Given the description of an element on the screen output the (x, y) to click on. 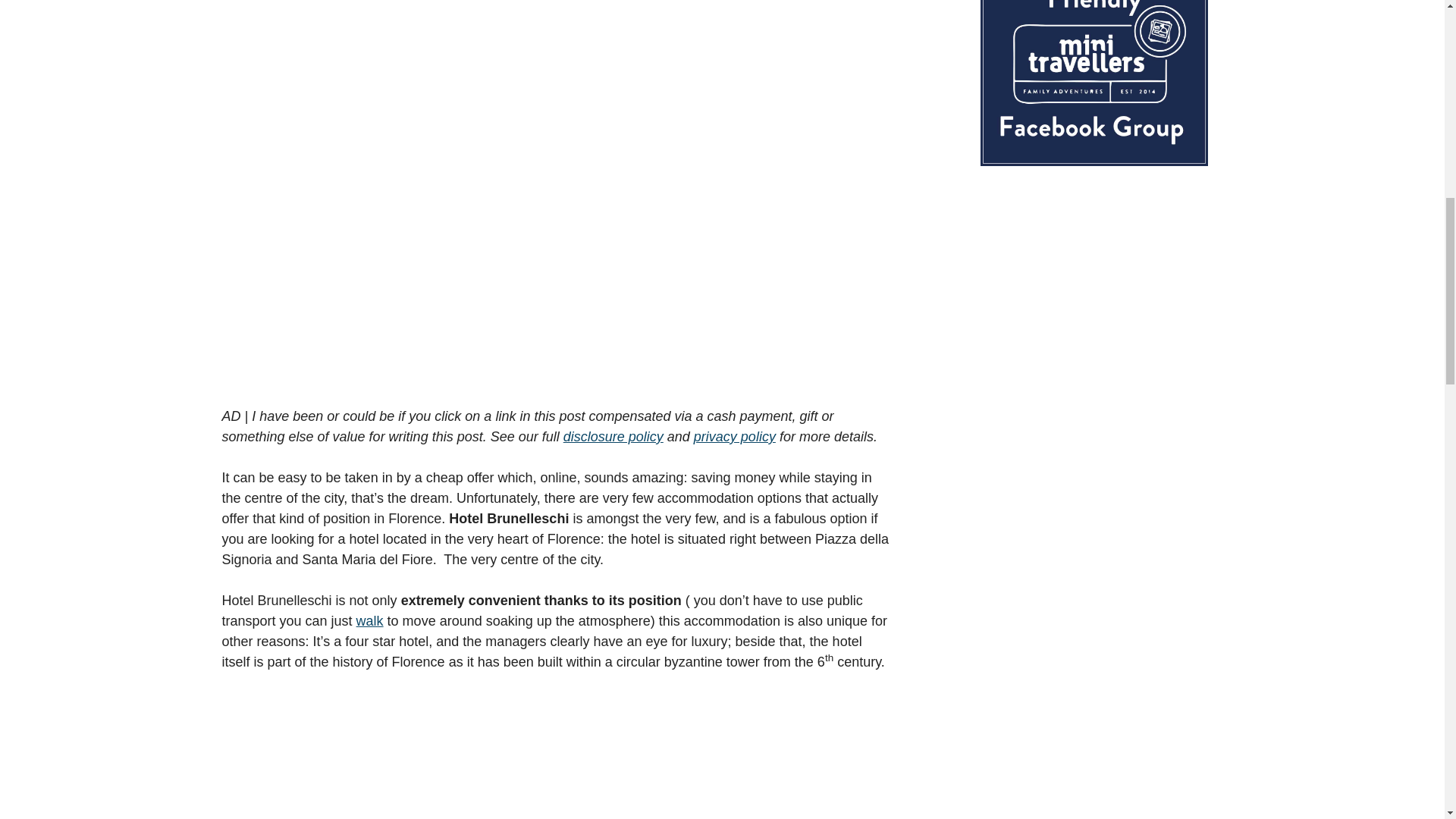
walk (370, 620)
Scroll back to top (1406, 720)
